Given the description of an element on the screen output the (x, y) to click on. 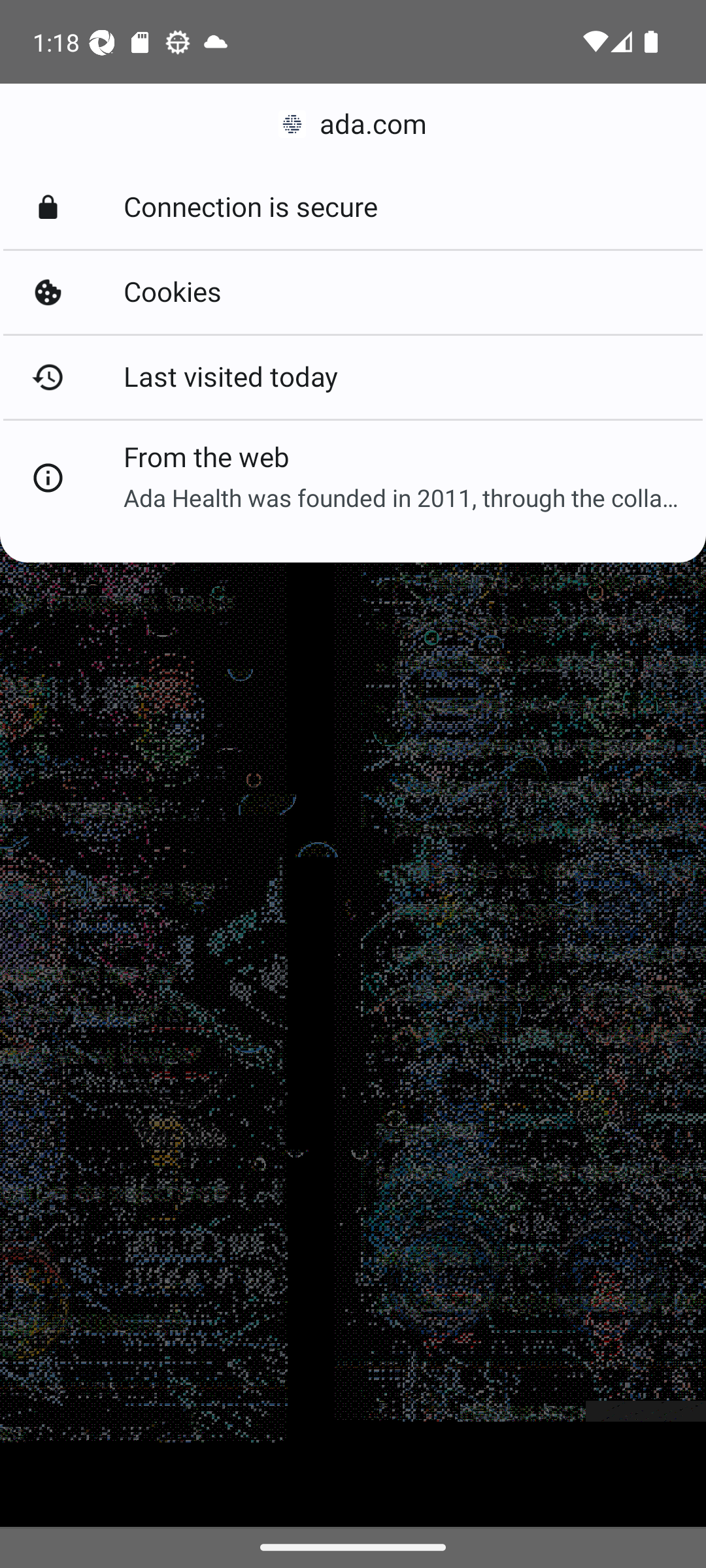
ada.com (353, 124)
Connection is secure (353, 207)
Cookies (353, 291)
Last visited today (353, 376)
